Given the description of an element on the screen output the (x, y) to click on. 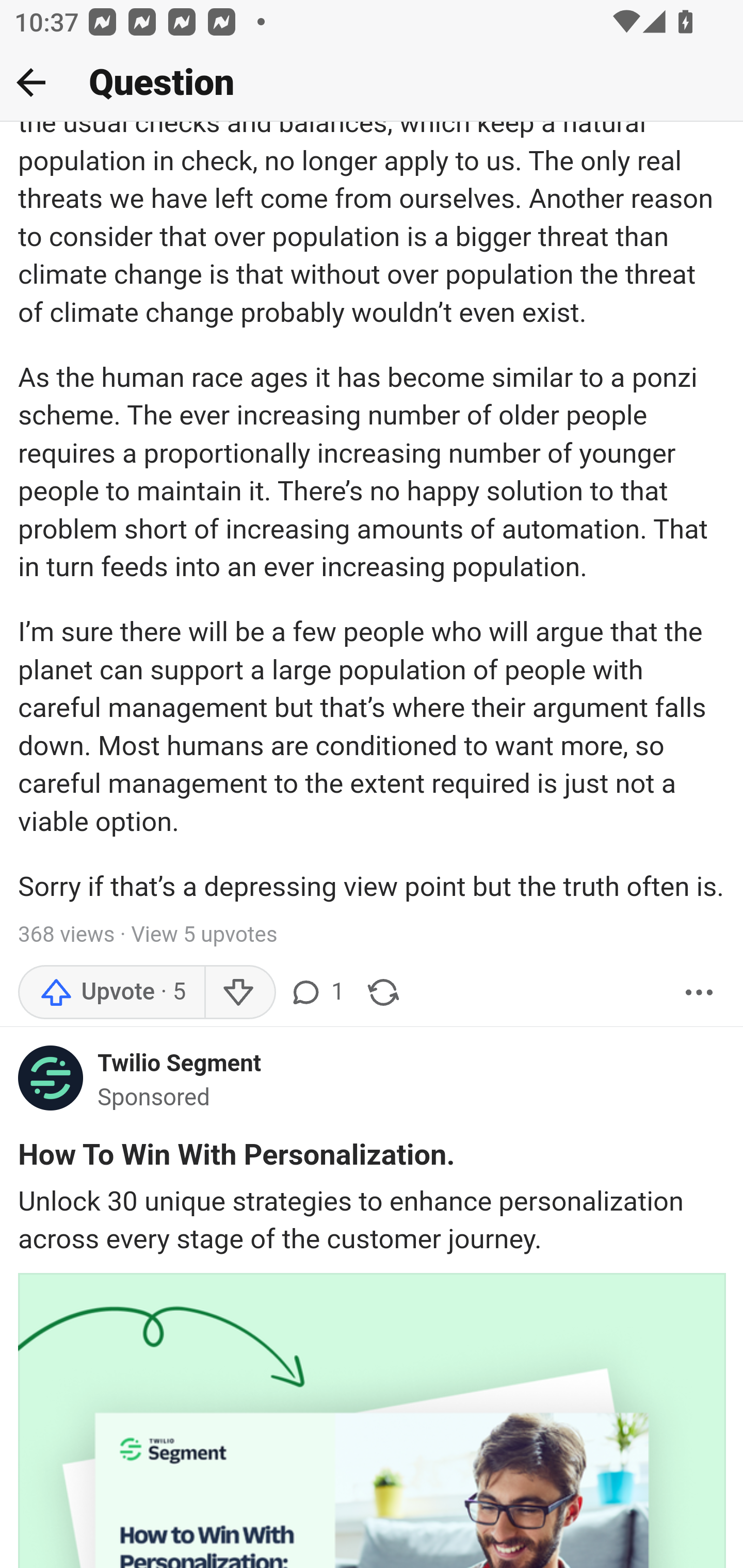
Back Question (371, 82)
Back (30, 82)
View 5 upvotes (203, 937)
main-qimg-fa5c3b2aec24785a1adf3247cdc49851 (50, 1083)
Twilio Segment (179, 1065)
Sponsored (154, 1098)
How To Win With Personalization. (236, 1159)
